Given the description of an element on the screen output the (x, y) to click on. 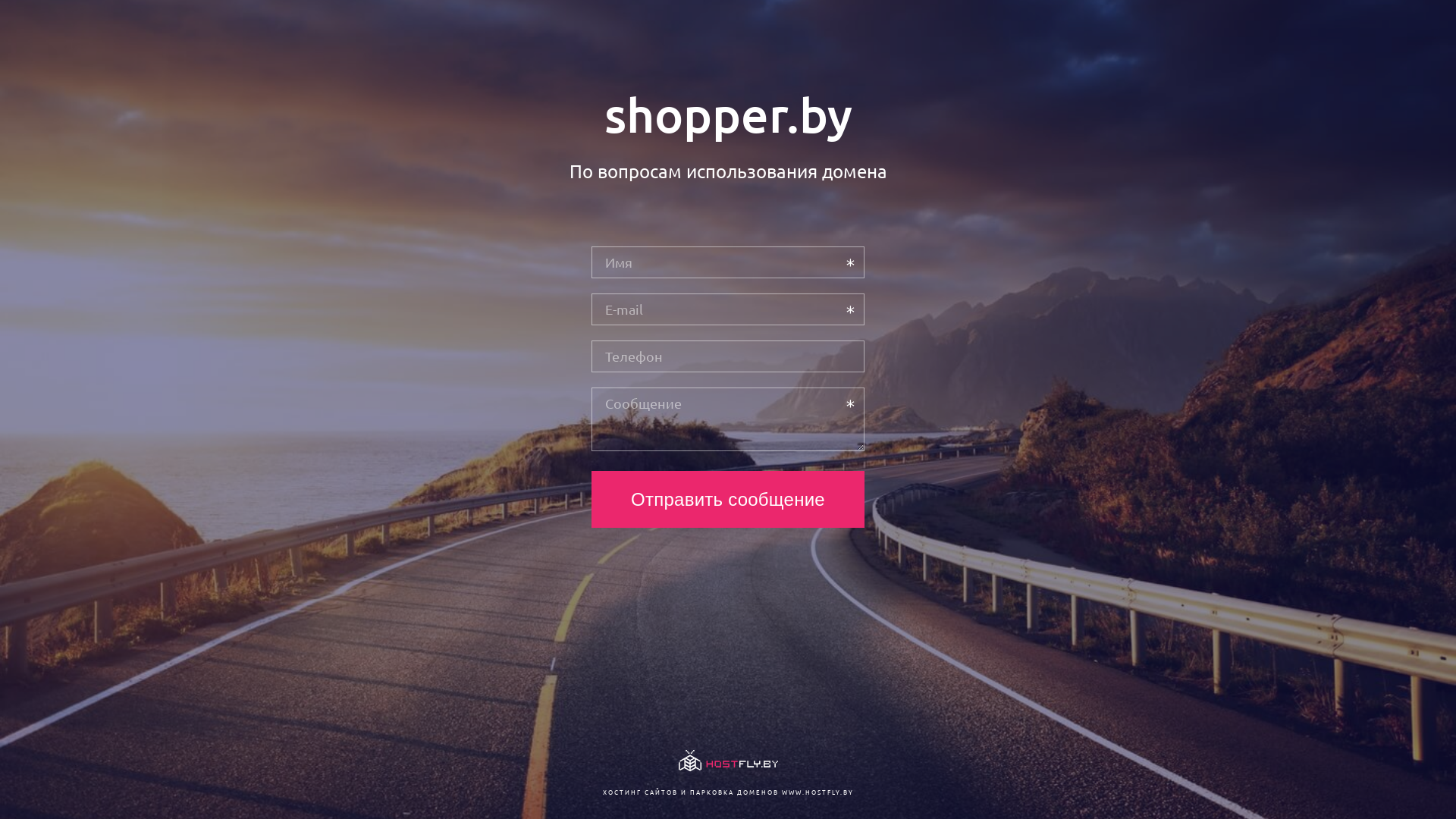
WWW.HOSTFLY.BY Element type: text (817, 791)
